Given the description of an element on the screen output the (x, y) to click on. 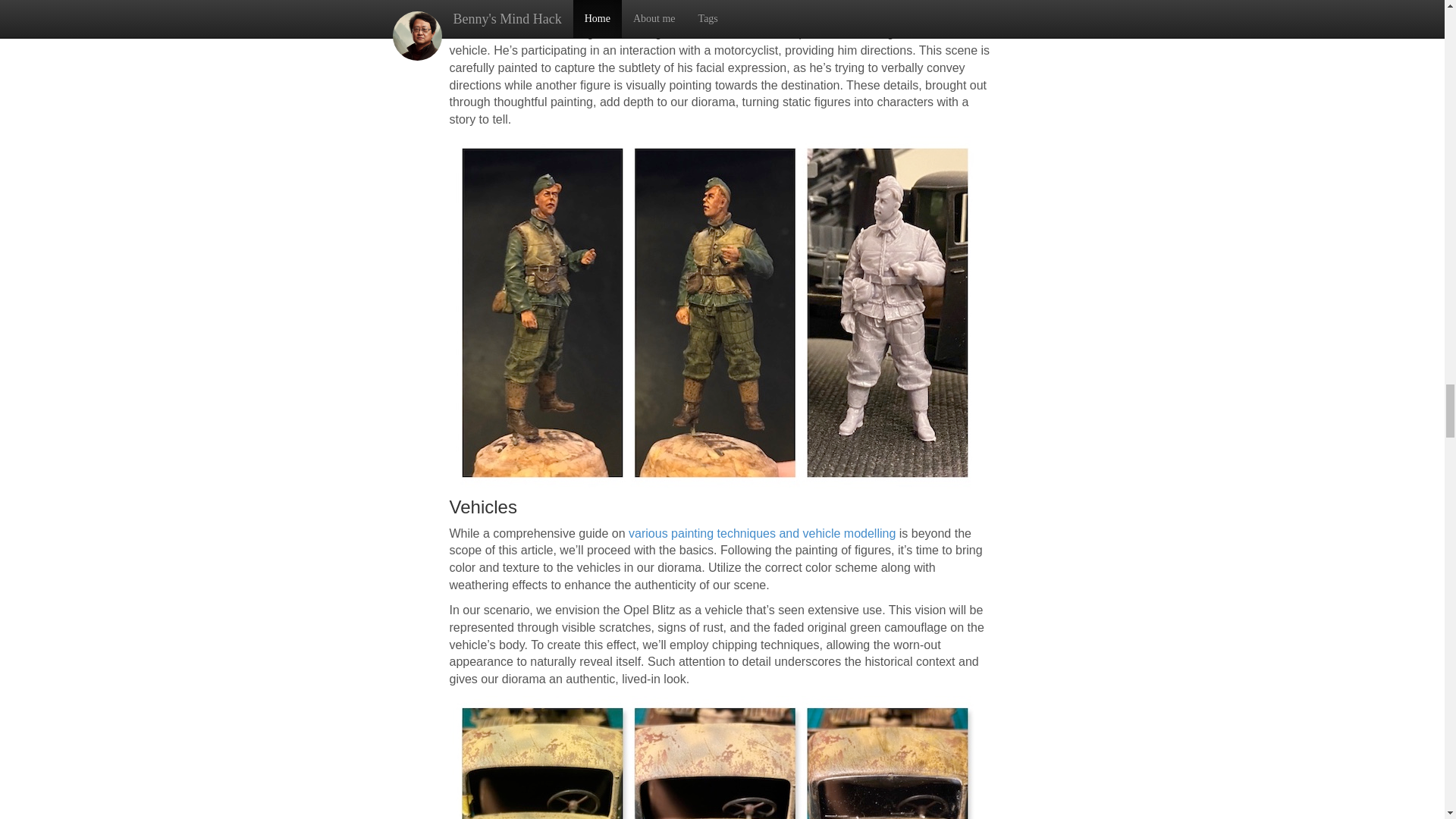
various painting techniques and vehicle modelling (761, 533)
